Given the description of an element on the screen output the (x, y) to click on. 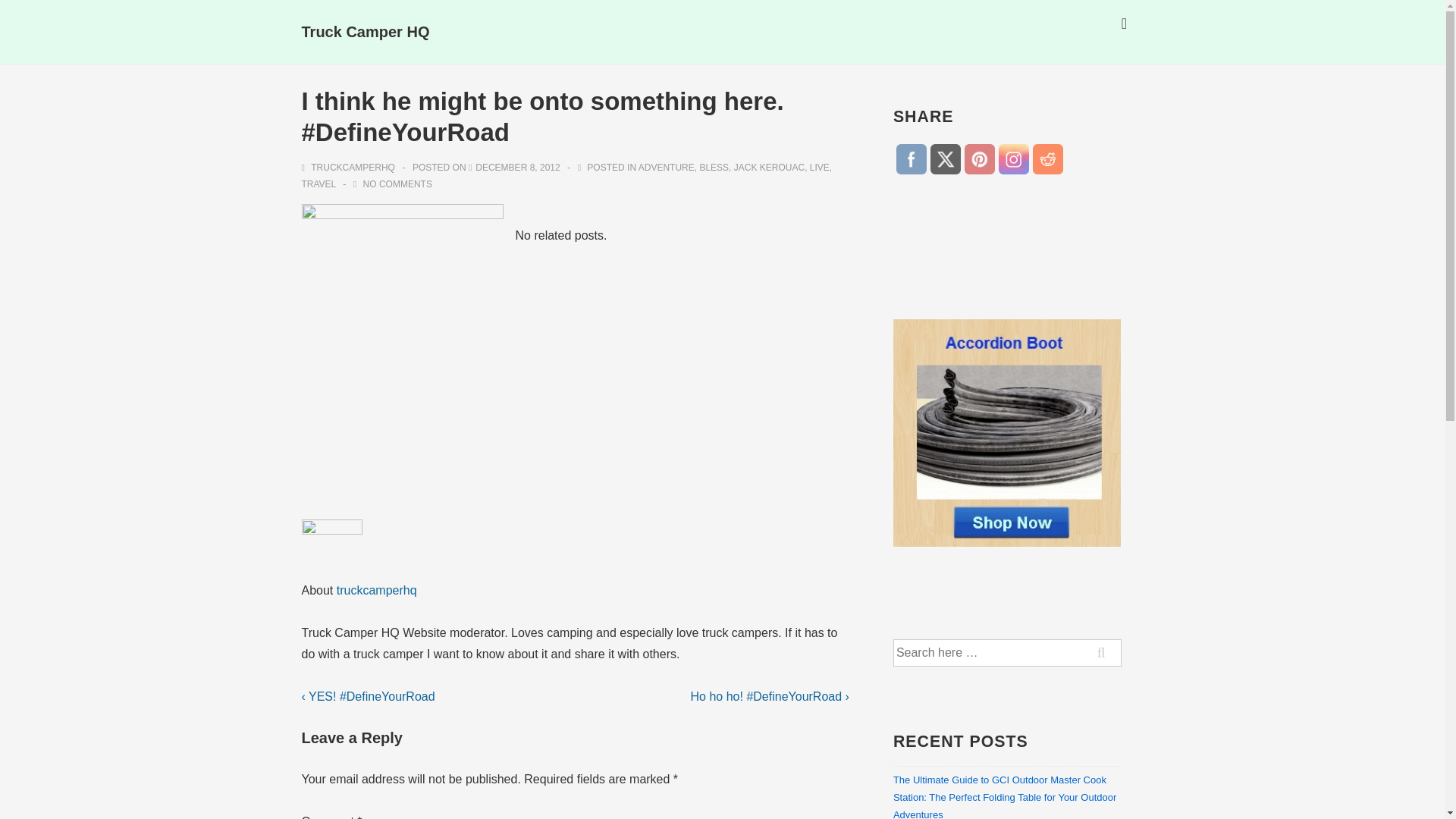
truckcamperhq (376, 590)
TRAVEL (318, 184)
MENU (1123, 23)
DECEMBER 8, 2012 (517, 167)
Facebook (911, 159)
NO COMMENTS (397, 184)
JACK KEROUAC (769, 167)
BLESS (713, 167)
Pinterest (978, 159)
